Given the description of an element on the screen output the (x, y) to click on. 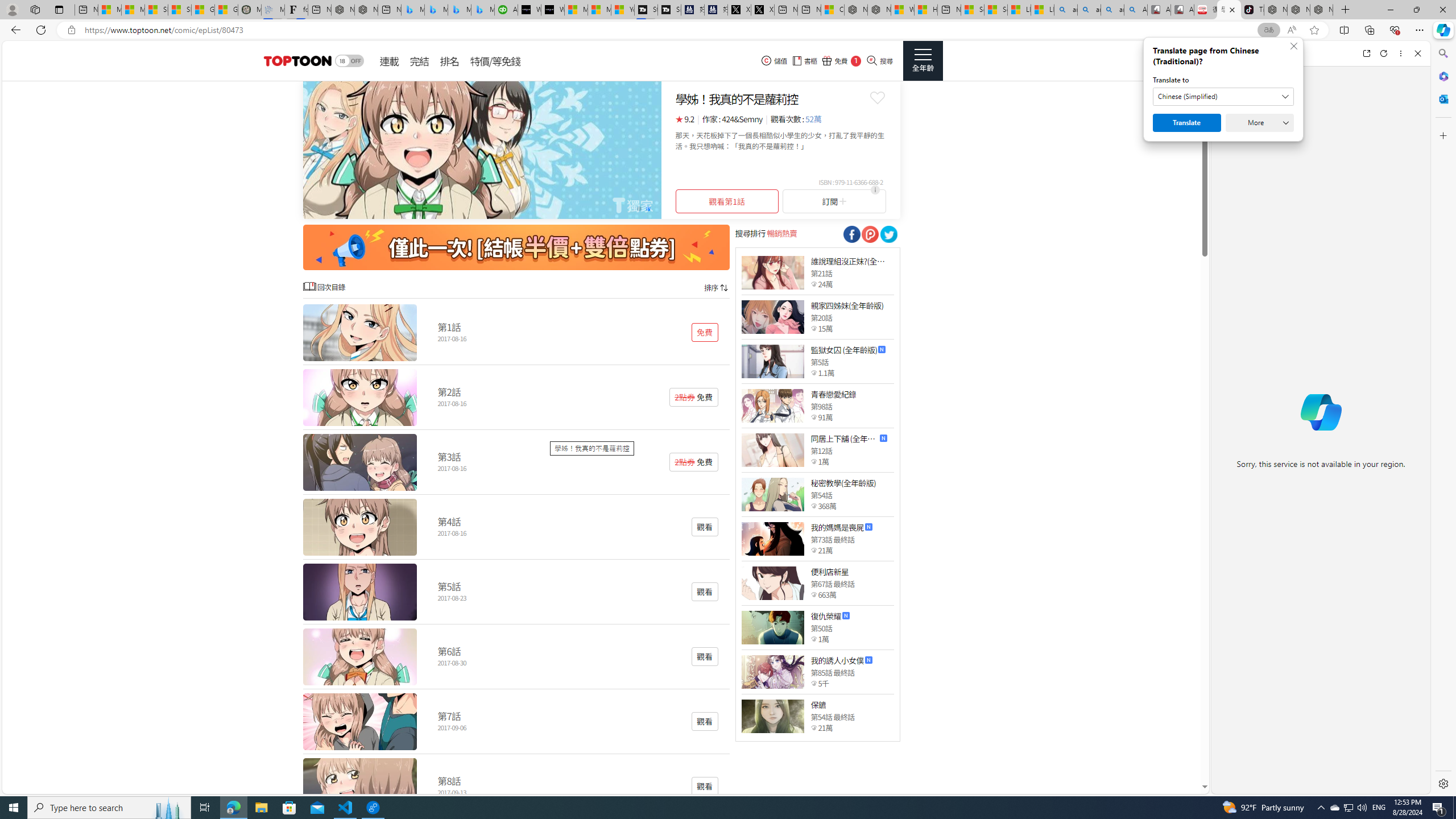
Side bar (1443, 418)
header (295, 60)
Nordace - Siena Pro 15 Essential Set (1321, 9)
